Given the description of an element on the screen output the (x, y) to click on. 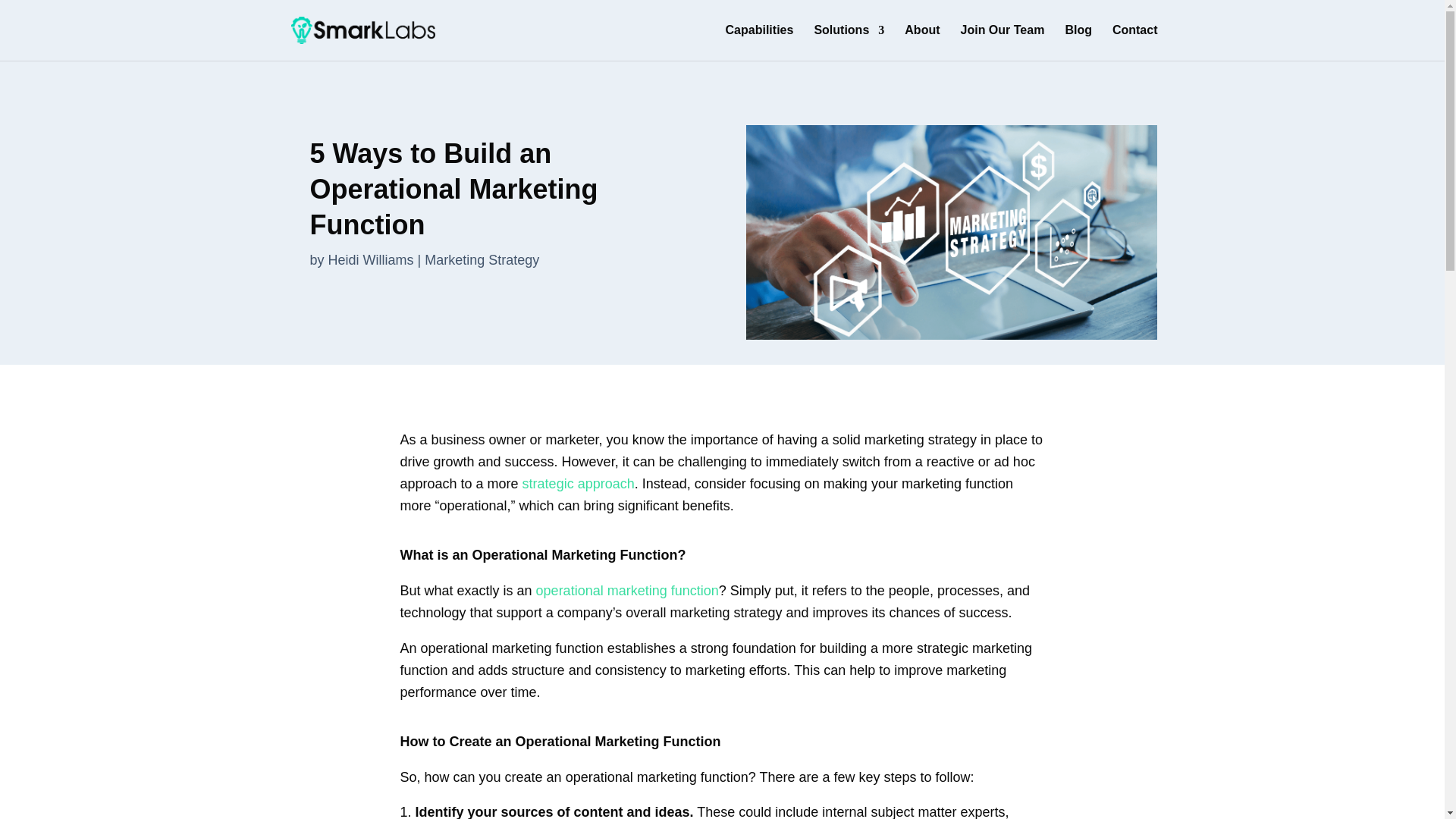
strategic approach (578, 483)
Solutions (848, 42)
operational marketing function (627, 590)
Contact (1134, 42)
Heidi Williams (371, 259)
Join Our Team (1002, 42)
About (921, 42)
Posts by Heidi Williams (371, 259)
Capabilities (759, 42)
Marketing Strategy (481, 259)
